Given the description of an element on the screen output the (x, y) to click on. 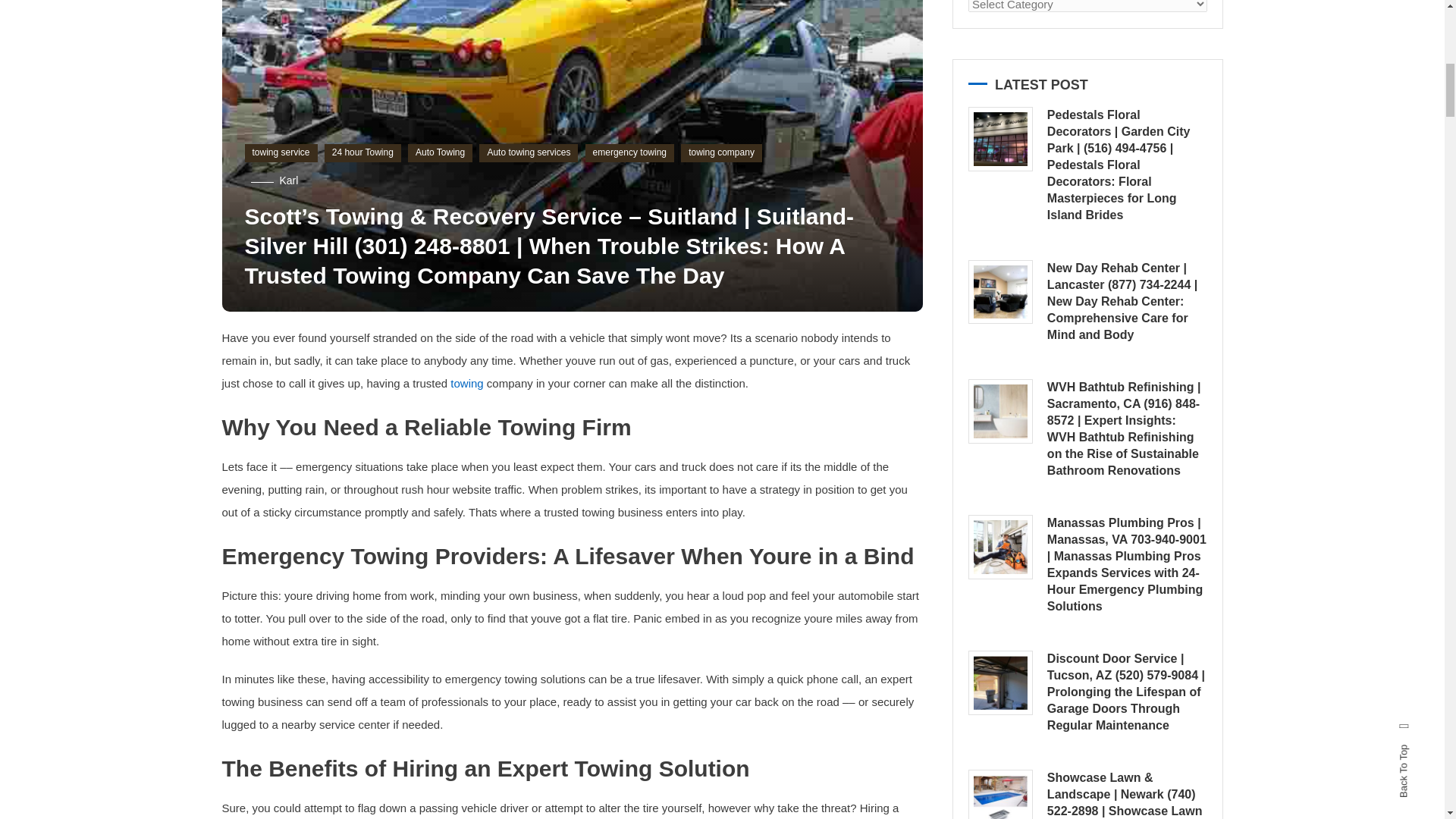
Auto Towing (439, 153)
towing (466, 382)
Auto towing services (528, 153)
emergency towing (629, 153)
towing service (280, 153)
24 hour Towing (362, 153)
Karl (288, 180)
towing company (721, 153)
